Given the description of an element on the screen output the (x, y) to click on. 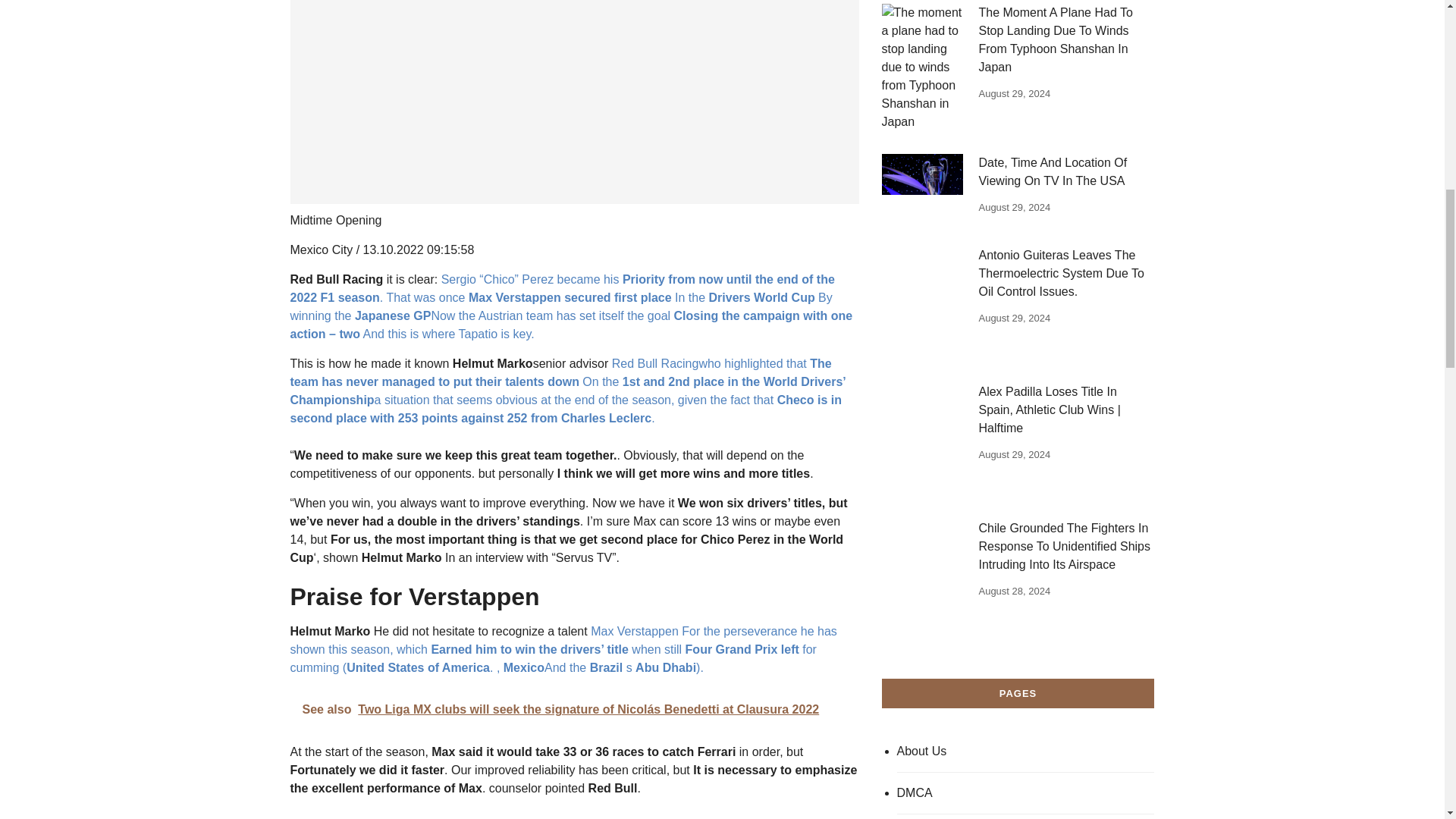
Advertisement (574, 101)
Red Bull Racing (654, 363)
Max Verstappen (634, 631)
